Given the description of an element on the screen output the (x, y) to click on. 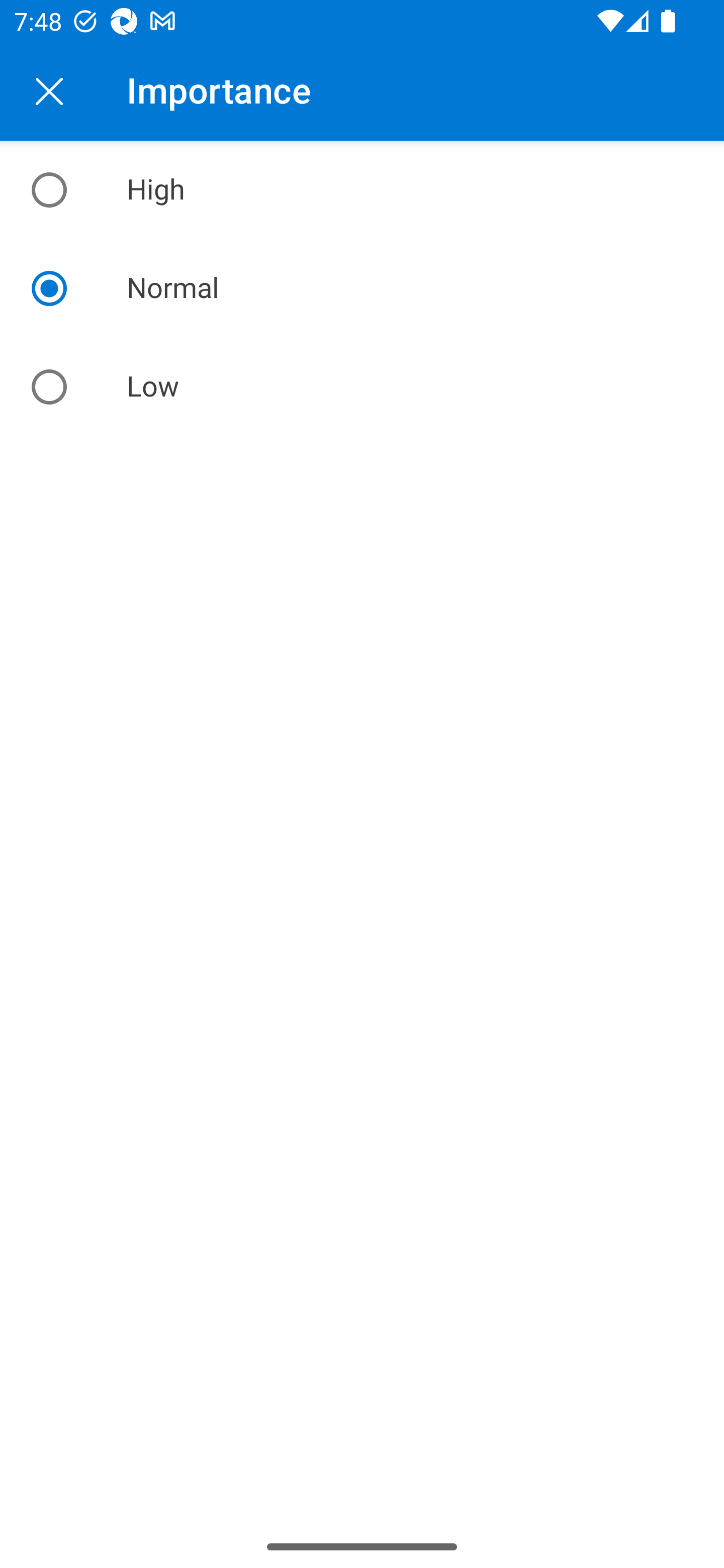
Back (49, 90)
High (362, 190)
Low (362, 386)
